Given the description of an element on the screen output the (x, y) to click on. 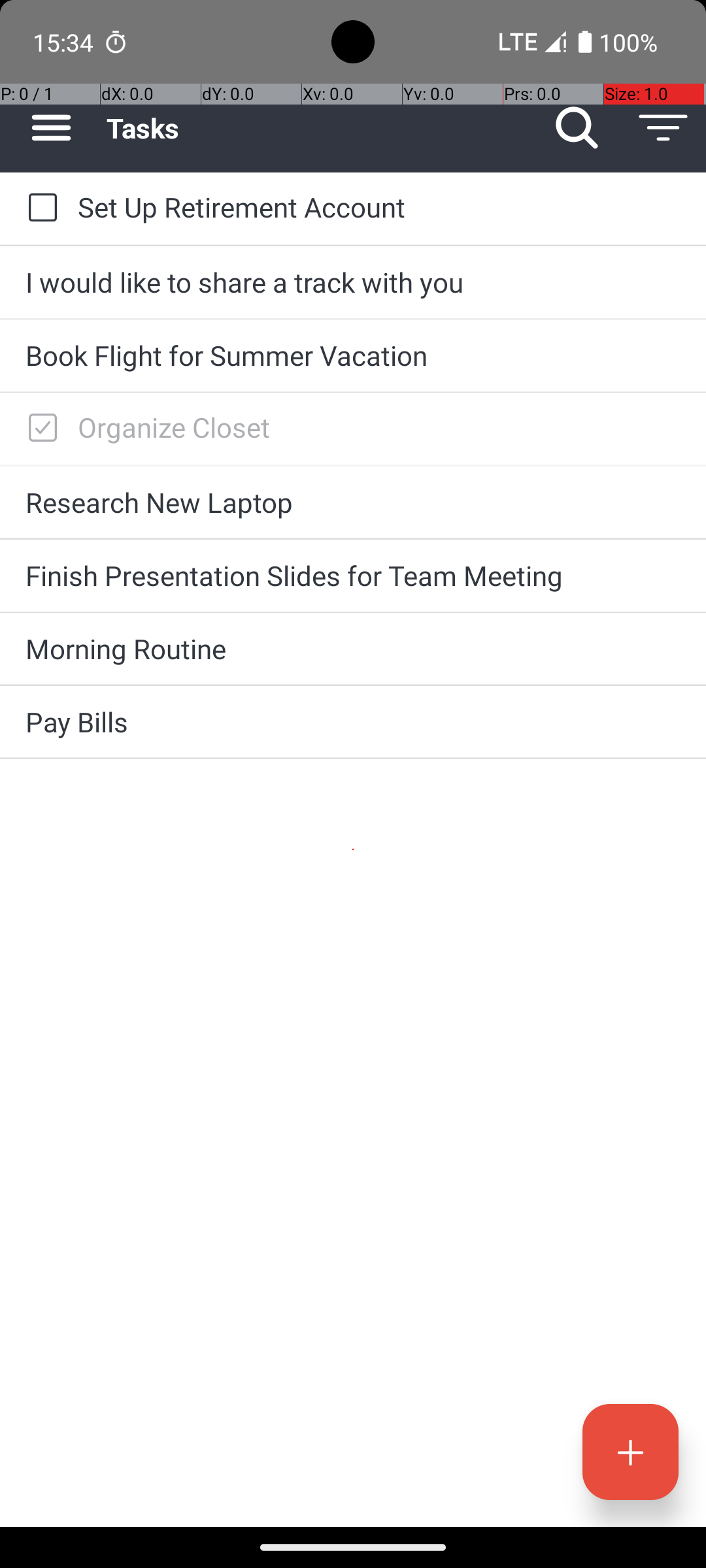
to-do: Set Up Retirement Account Element type: android.widget.CheckBox (38, 208)
Set Up Retirement Account Element type: android.widget.TextView (378, 206)
I would like to share a track with you Element type: android.widget.TextView (352, 281)
Book Flight for Summer Vacation Element type: android.widget.TextView (352, 354)
to-do: Organize Closet Element type: android.widget.CheckBox (38, 428)
Research New Laptop Element type: android.widget.TextView (352, 501)
Finish Presentation Slides for Team Meeting Element type: android.widget.TextView (352, 574)
Morning Routine Element type: android.widget.TextView (352, 648)
Pay Bills Element type: android.widget.TextView (352, 721)
